Given the description of an element on the screen output the (x, y) to click on. 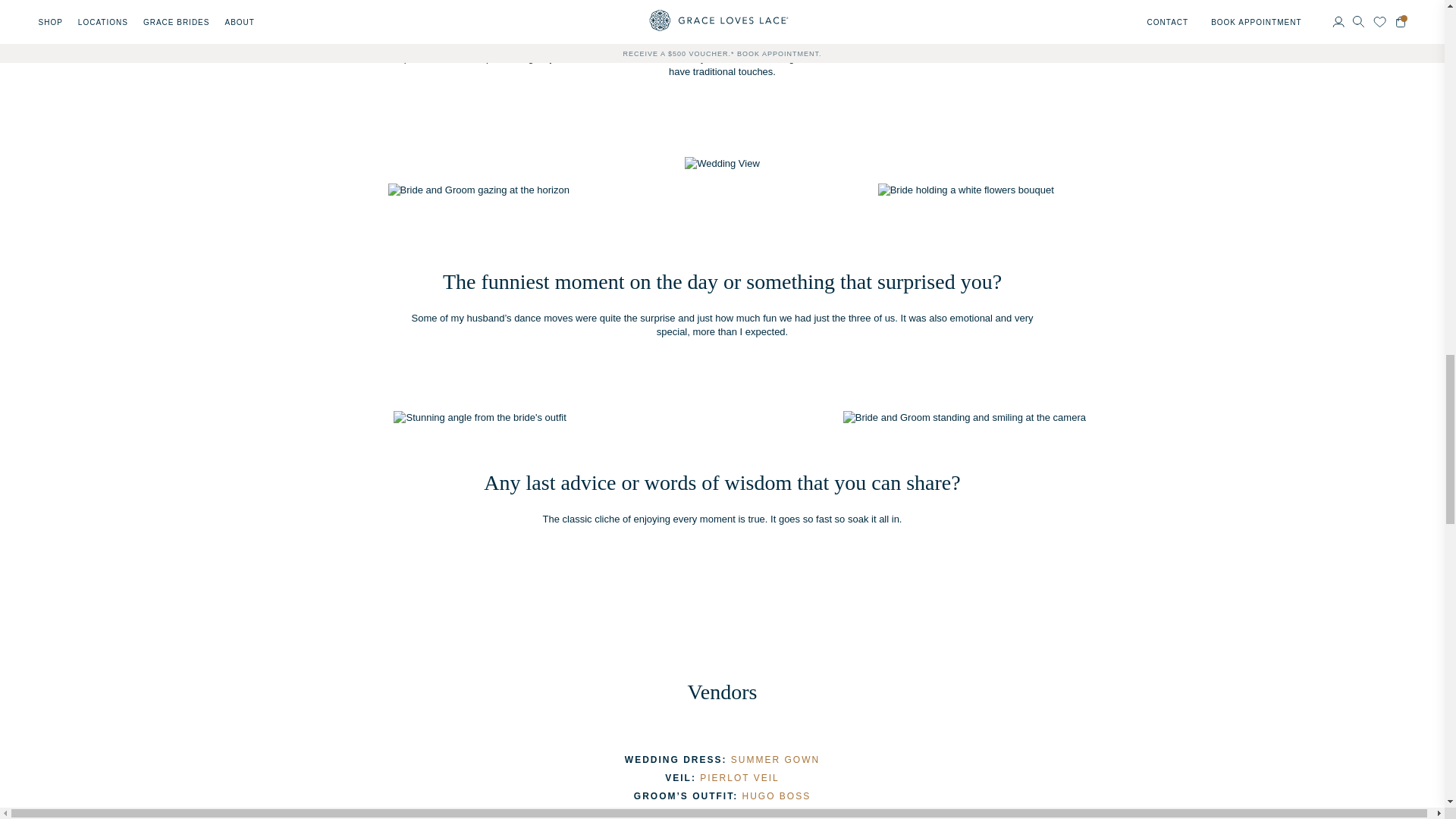
Page 2 (722, 51)
